Given the description of an element on the screen output the (x, y) to click on. 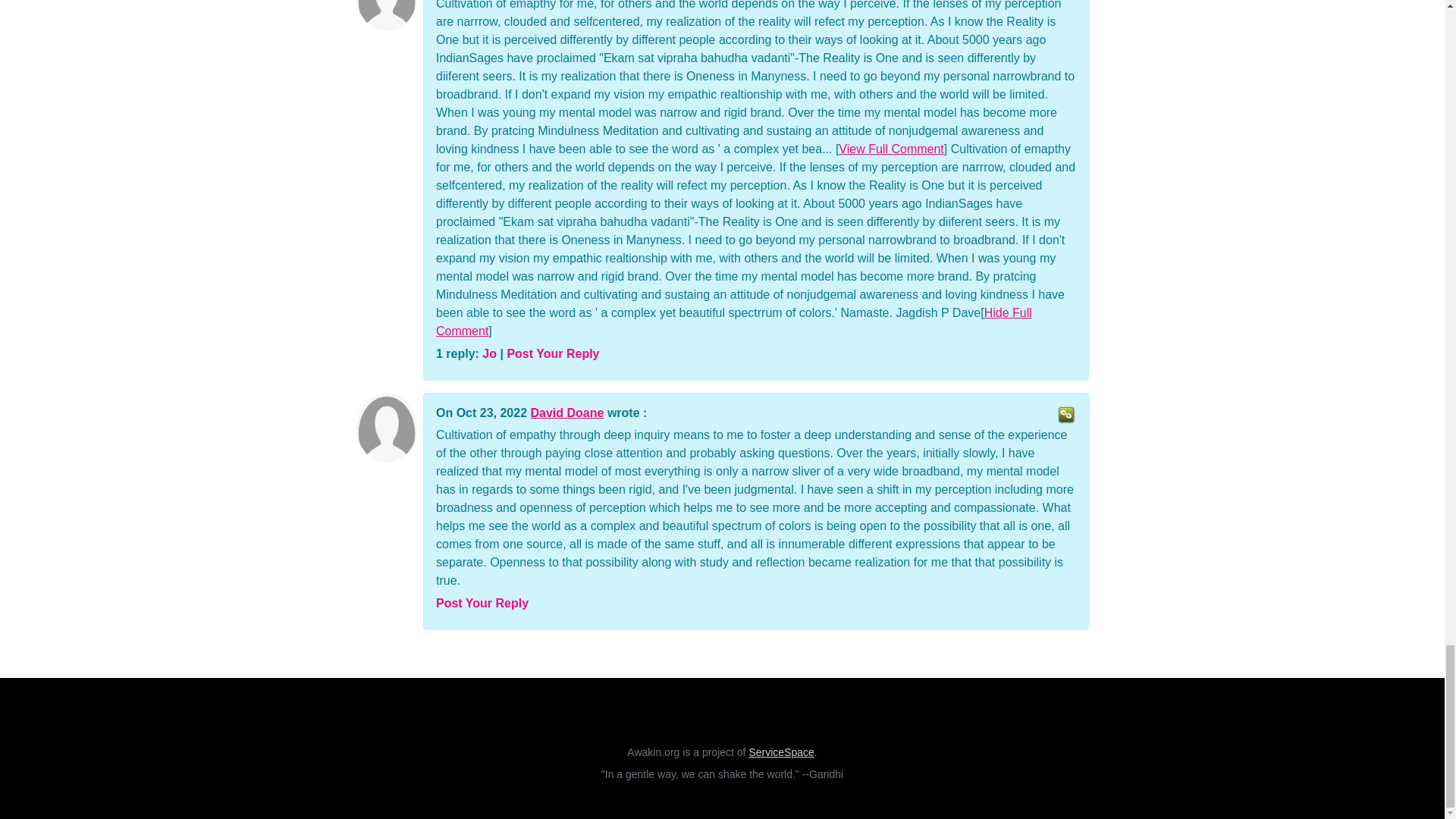
Hide Full Comment (733, 321)
View Full Comment (890, 148)
